Given the description of an element on the screen output the (x, y) to click on. 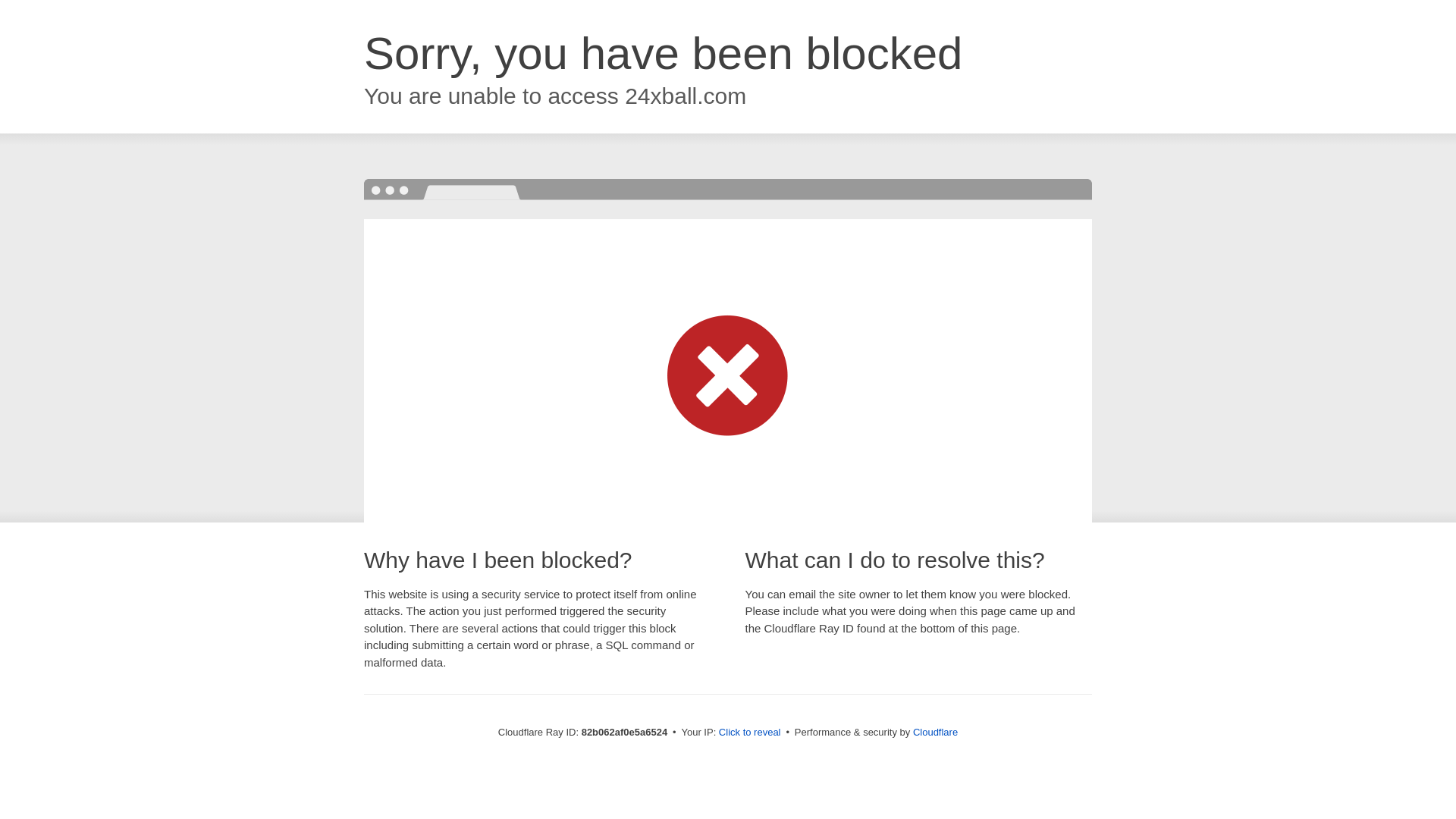
Cloudflare Element type: text (935, 731)
Click to reveal Element type: text (749, 732)
